Given the description of an element on the screen output the (x, y) to click on. 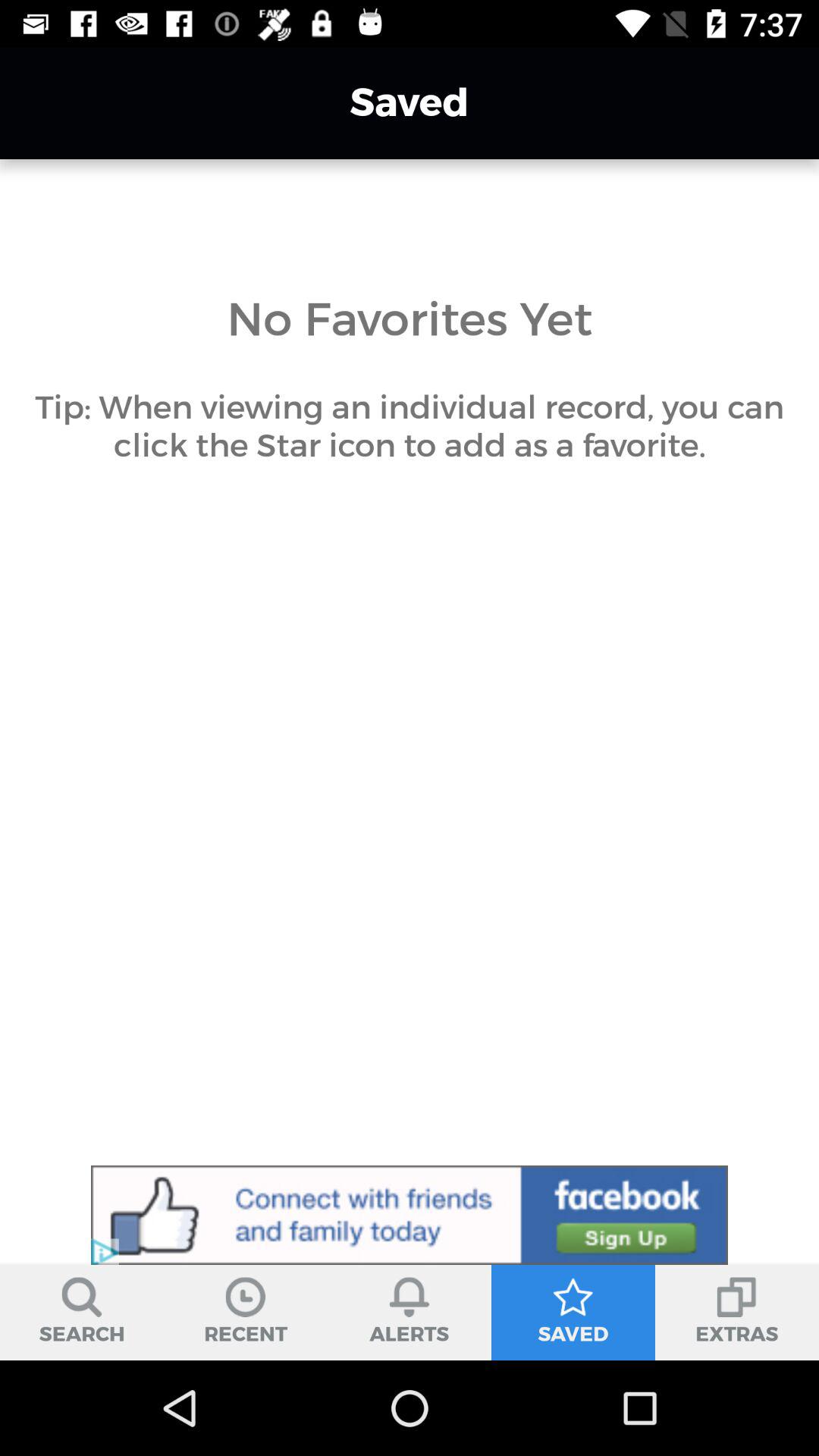
click on the icon above alerts (409, 1297)
click on the star icon above saved (572, 1297)
click on recent (245, 1312)
